Given the description of an element on the screen output the (x, y) to click on. 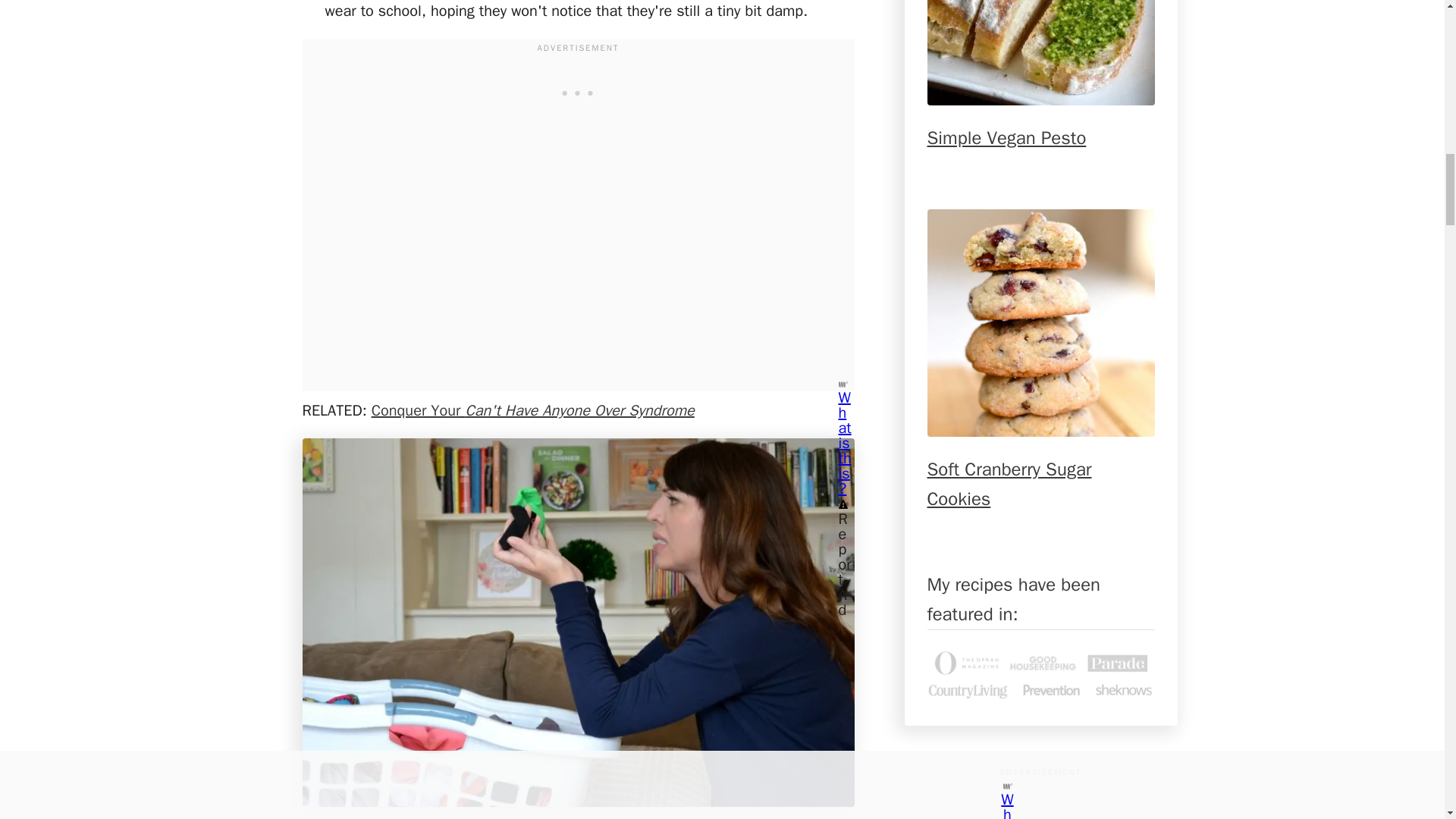
Simple Vegan Pesto (1040, 52)
3rd party ad content (577, 91)
